Given the description of an element on the screen output the (x, y) to click on. 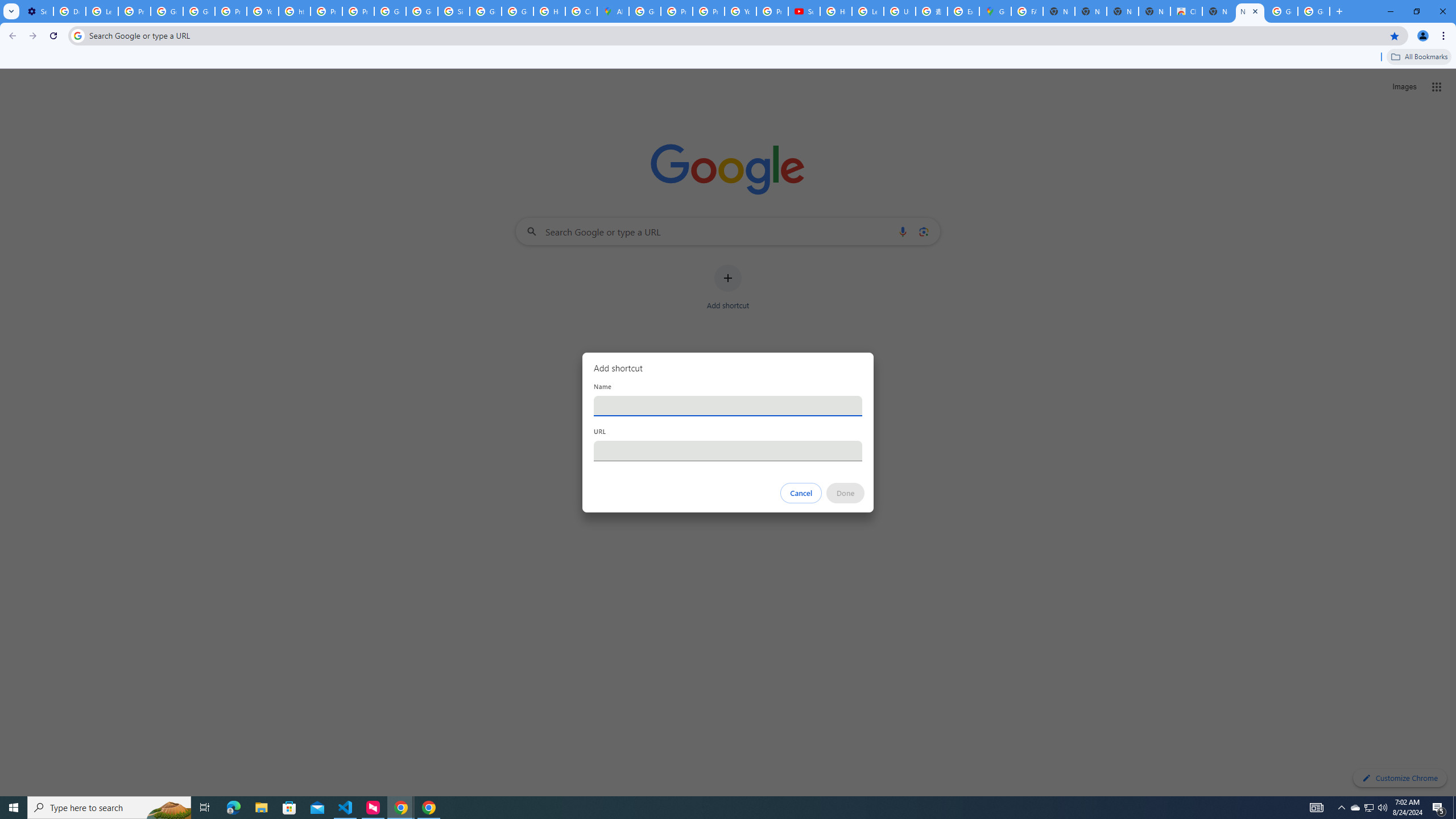
Google Images (1281, 11)
Privacy Help Center - Policies Help (708, 11)
Sign in - Google Accounts (453, 11)
Settings - On startup (37, 11)
Done (845, 493)
URL (727, 450)
Privacy Help Center - Policies Help (326, 11)
